Given the description of an element on the screen output the (x, y) to click on. 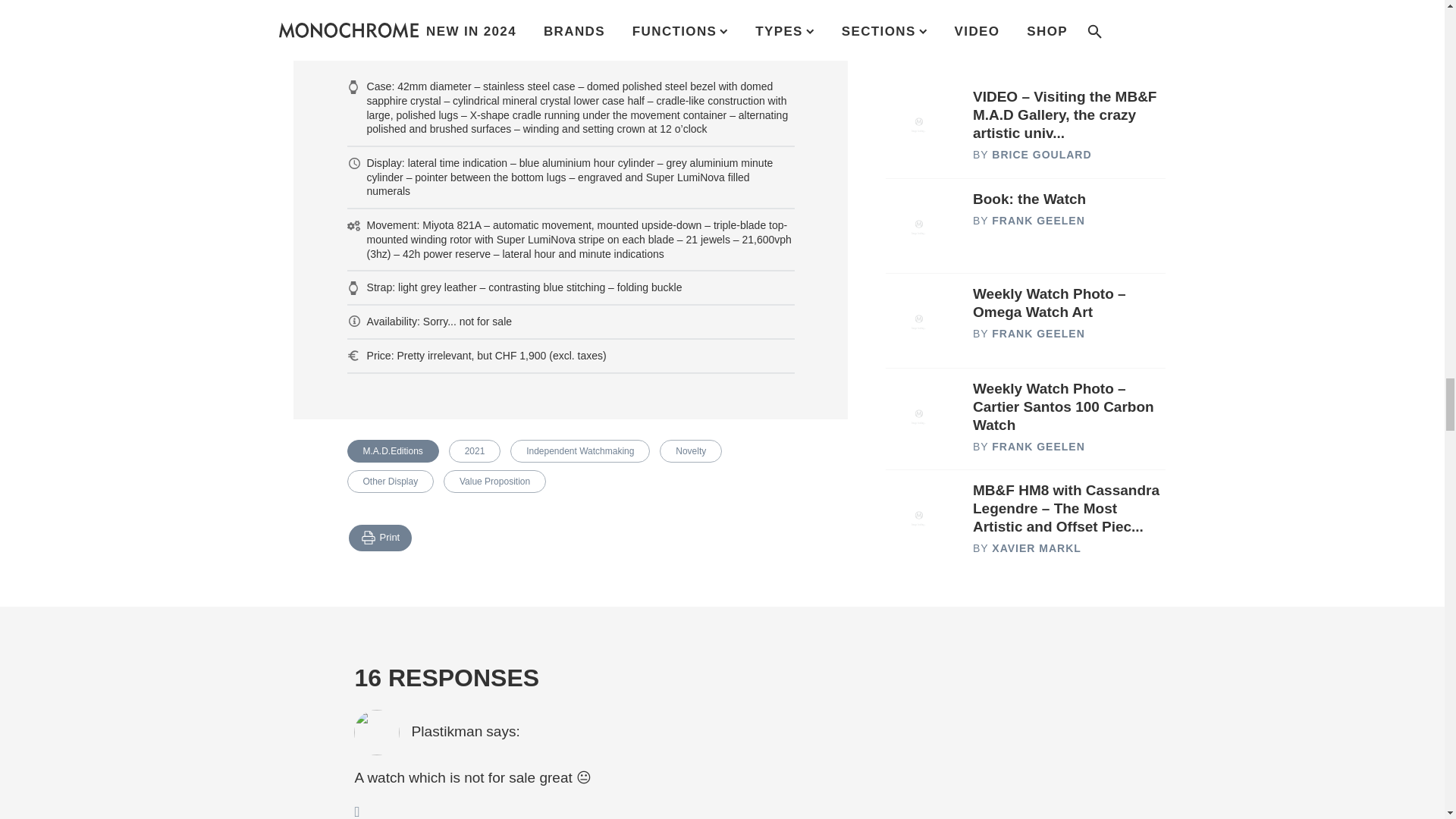
Other Display (390, 481)
Independent Watchmaking (580, 450)
Value Proposition (495, 481)
M.A.D.Editions (393, 450)
Novelty (690, 450)
2021 (474, 450)
